Given the description of an element on the screen output the (x, y) to click on. 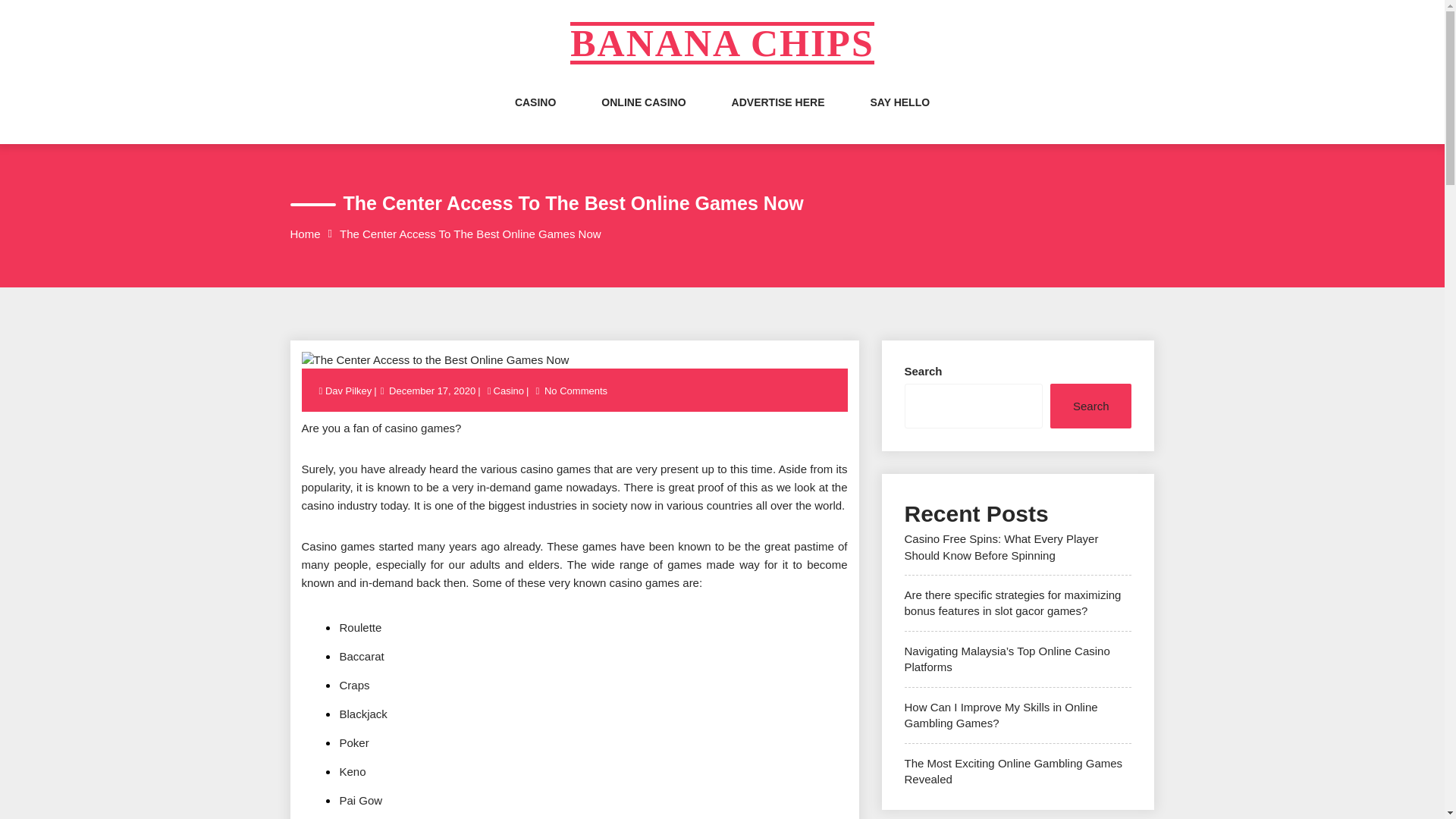
The Most Exciting Online Gambling Games Revealed (1013, 770)
SAY HELLO (900, 117)
Casino (508, 390)
CASINO (535, 117)
How Can I Improve My Skills in Online Gambling Games? (1000, 715)
Search (1090, 406)
December 17, 2020 (432, 390)
No Comments (575, 390)
ADVERTISE HERE (778, 117)
